Given the description of an element on the screen output the (x, y) to click on. 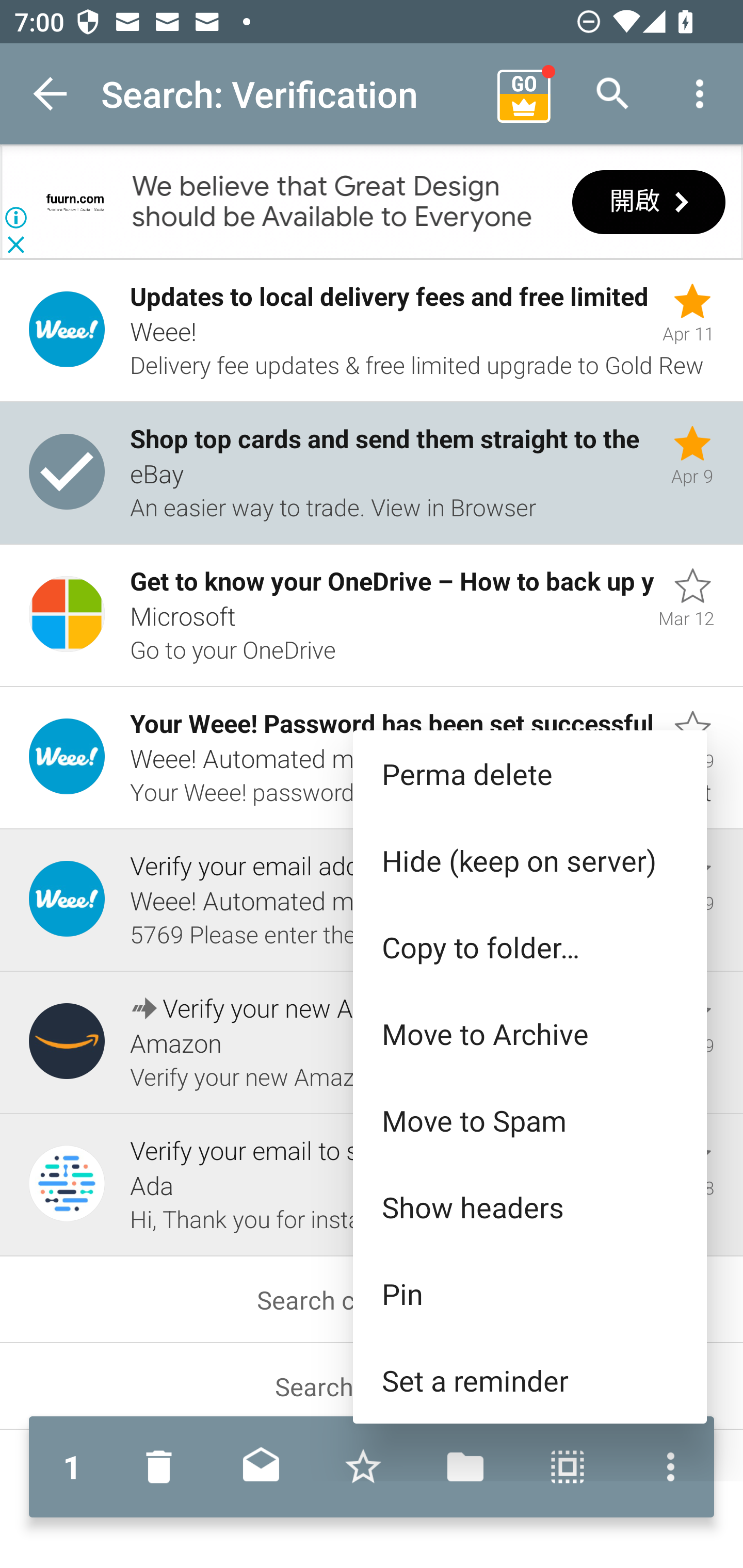
Perma delete (529, 773)
Hide (keep on server) (529, 859)
Copy to folder… (529, 946)
Move to Archive (529, 1033)
Move to Spam (529, 1120)
Show headers (529, 1206)
Pin (529, 1293)
Set a reminder (529, 1380)
